Given the description of an element on the screen output the (x, y) to click on. 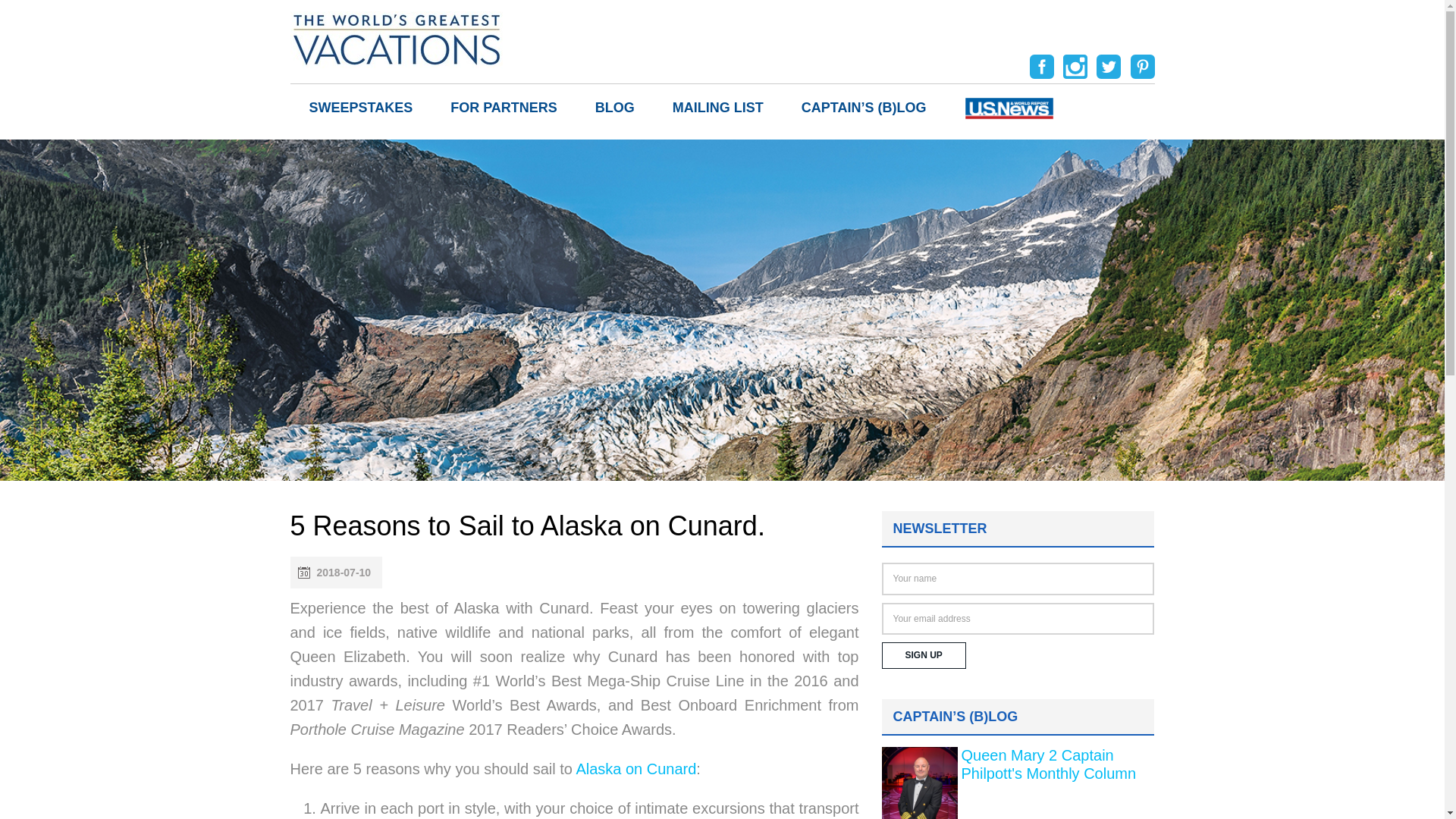
SWEEPSTAKES (359, 107)
Queen Mary 2 Captain Philpott's Monthly Column (1048, 764)
Alaska on Cunard (635, 768)
FOR PARTNERS (503, 107)
BLOG (614, 107)
MAILING LIST (718, 107)
Sign up (922, 655)
Sign up (922, 655)
The World's Greatest Vacations (395, 38)
